Given the description of an element on the screen output the (x, y) to click on. 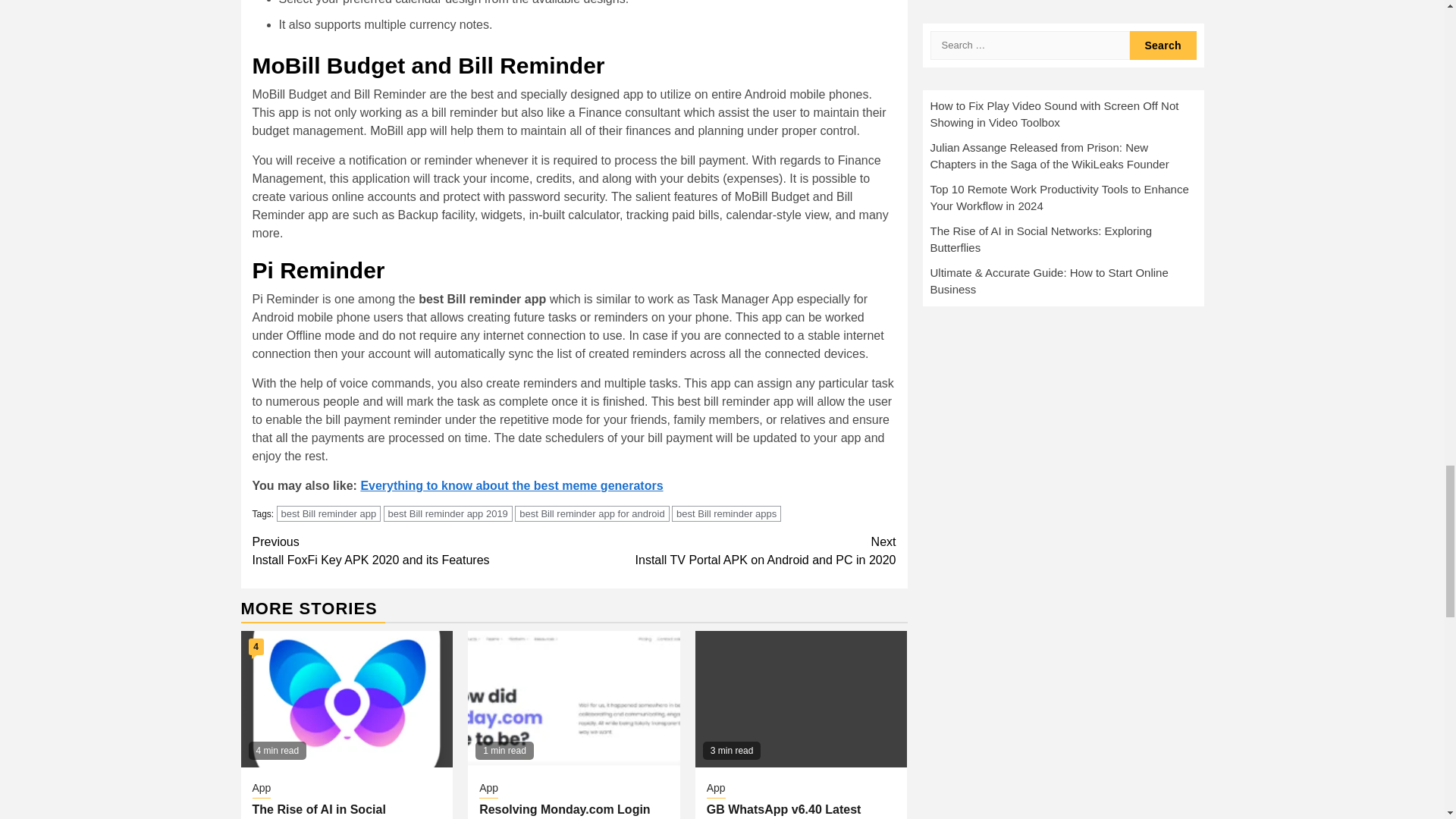
App (260, 789)
best Bill reminder app for android (734, 551)
best Bill reminder apps (592, 513)
The Rise of AI in Social Networks: Exploring Butterflies (725, 513)
best Bill reminder app (341, 811)
best Bill reminder app 2019 (328, 513)
Resolving Monday.com Login Issues: A Step-by-Step Guide (448, 513)
4 (564, 811)
App (412, 551)
Everything to know about the best meme generators (255, 646)
